Given the description of an element on the screen output the (x, y) to click on. 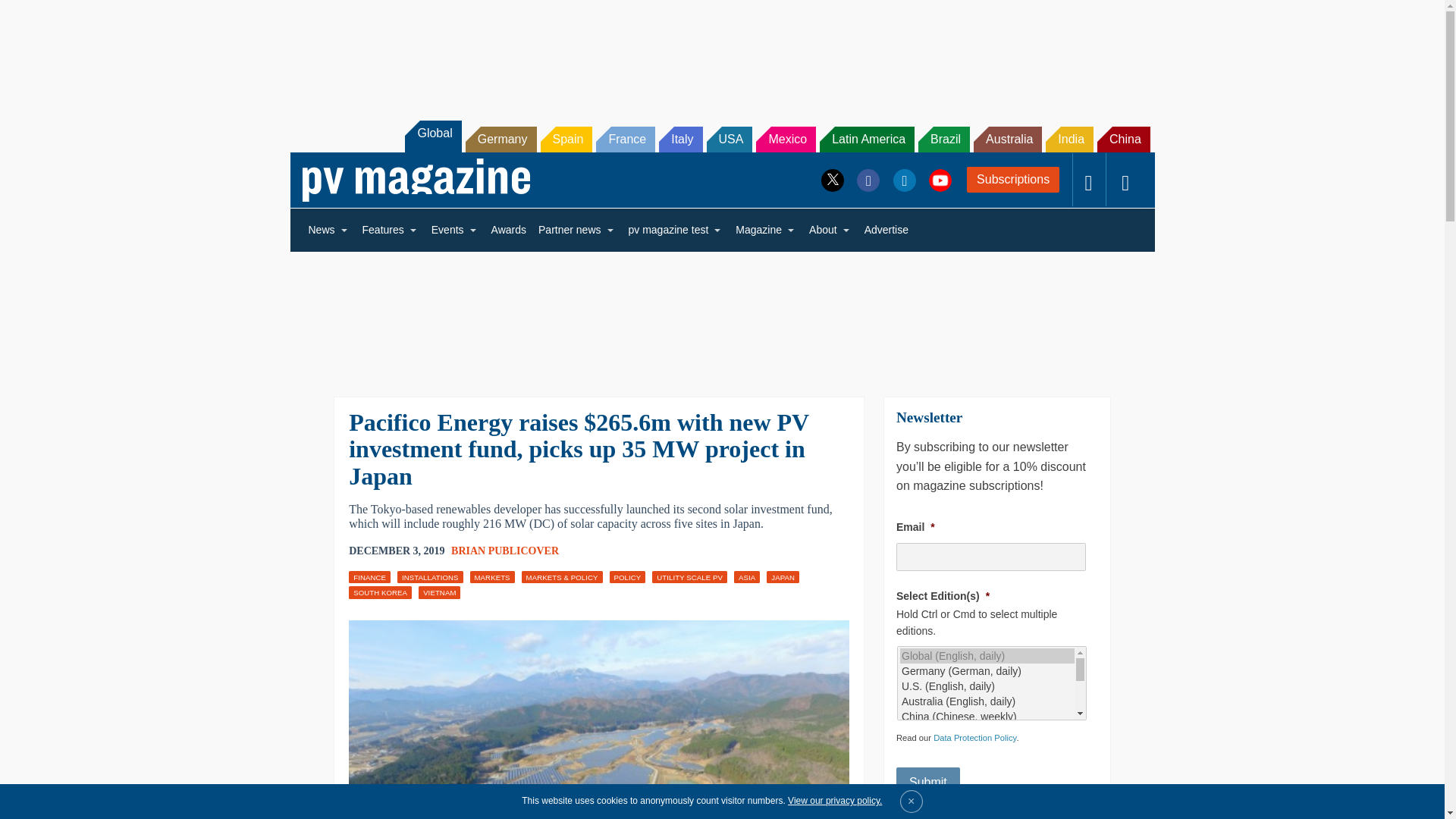
Australia (1008, 139)
Mexico (785, 139)
Germany (501, 139)
Global (432, 136)
3rd party ad content (1199, 707)
Latin America (866, 139)
China (1123, 139)
3rd party ad content (721, 51)
USA (729, 139)
3rd party ad content (1199, 353)
Brazil (943, 139)
Italy (680, 139)
Tuesday, December 3, 2019, 7:35 am (396, 550)
Submit (927, 782)
pv magazine - Photovoltaics Markets and Technology (415, 179)
